Given the description of an element on the screen output the (x, y) to click on. 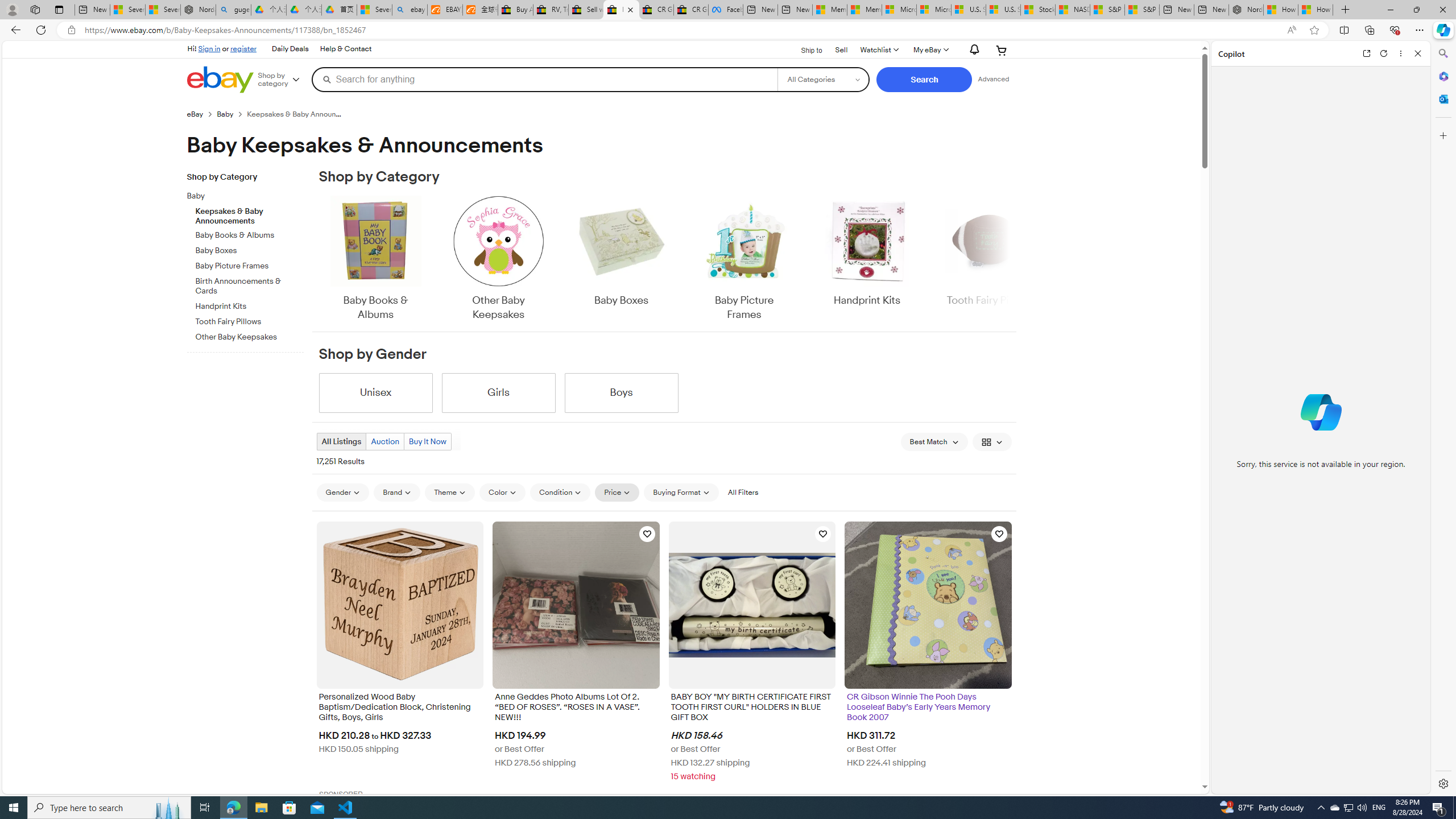
My eBay (930, 49)
Tooth Fairy Pillows (249, 321)
Keepsakes & Baby Announcements (249, 214)
Baby Books & Albums (375, 258)
Girls (498, 392)
Microsoft 365 (1442, 76)
Gender (342, 492)
eBay Home (219, 79)
Handprint Kits (866, 258)
